Given the description of an element on the screen output the (x, y) to click on. 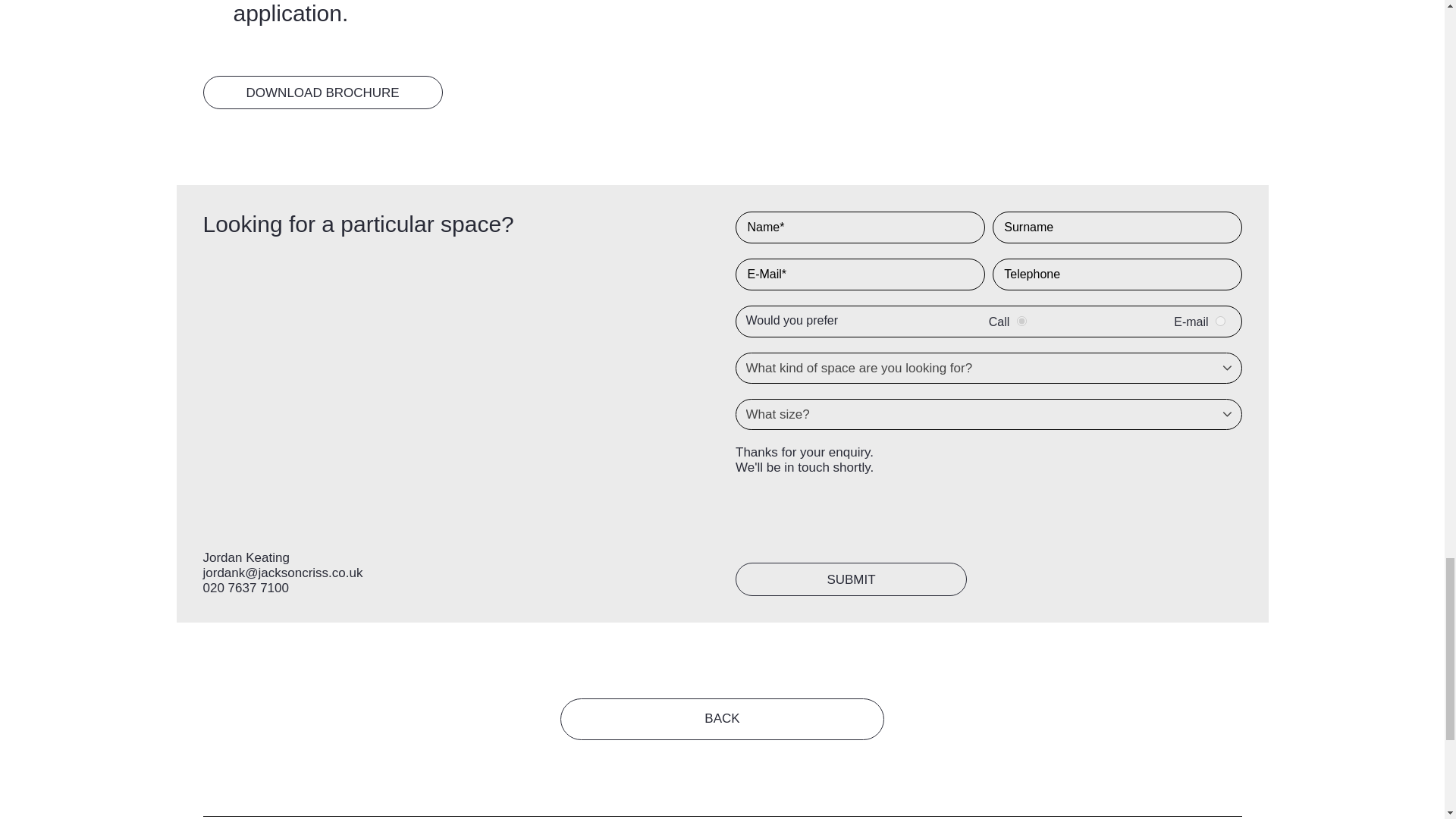
E-mail (1220, 320)
BACK (721, 719)
020 7637 7100 (245, 587)
Call (1021, 320)
SUBMIT (850, 579)
DOWNLOAD BROCHURE (322, 92)
